Given the description of an element on the screen output the (x, y) to click on. 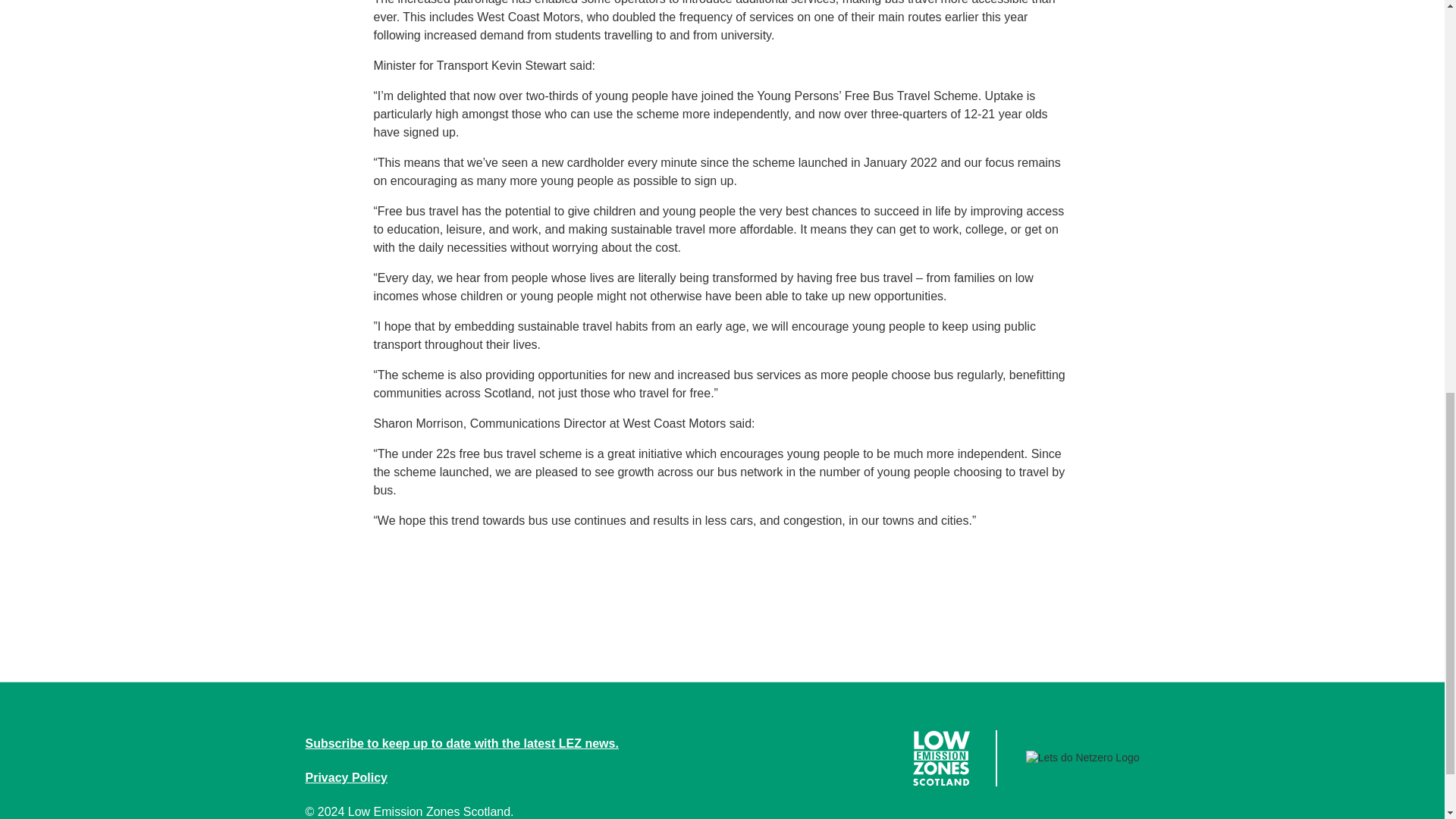
Subscribe to keep up to date with the latest LEZ news. (460, 743)
Privacy Policy (345, 777)
